Given the description of an element on the screen output the (x, y) to click on. 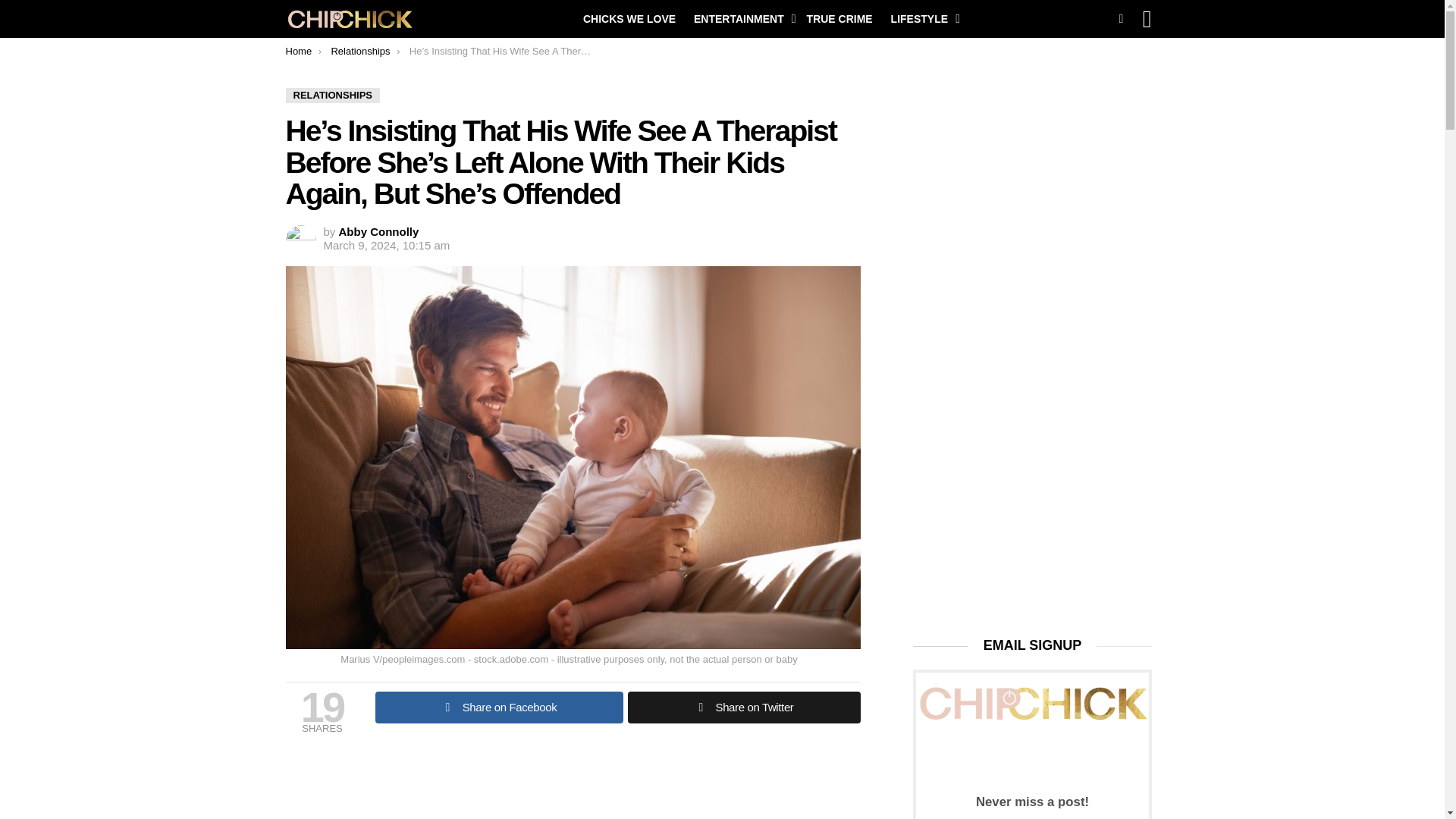
TRUE CRIME (839, 18)
LIFESTYLE (921, 18)
CHICKS WE LOVE (628, 18)
Posts by Abby Connolly (379, 231)
Relationships (360, 50)
Share on Twitter (743, 707)
RELATIONSHIPS (332, 95)
ENTERTAINMENT (740, 18)
Abby Connolly (379, 231)
Home (298, 50)
